Given the description of an element on the screen output the (x, y) to click on. 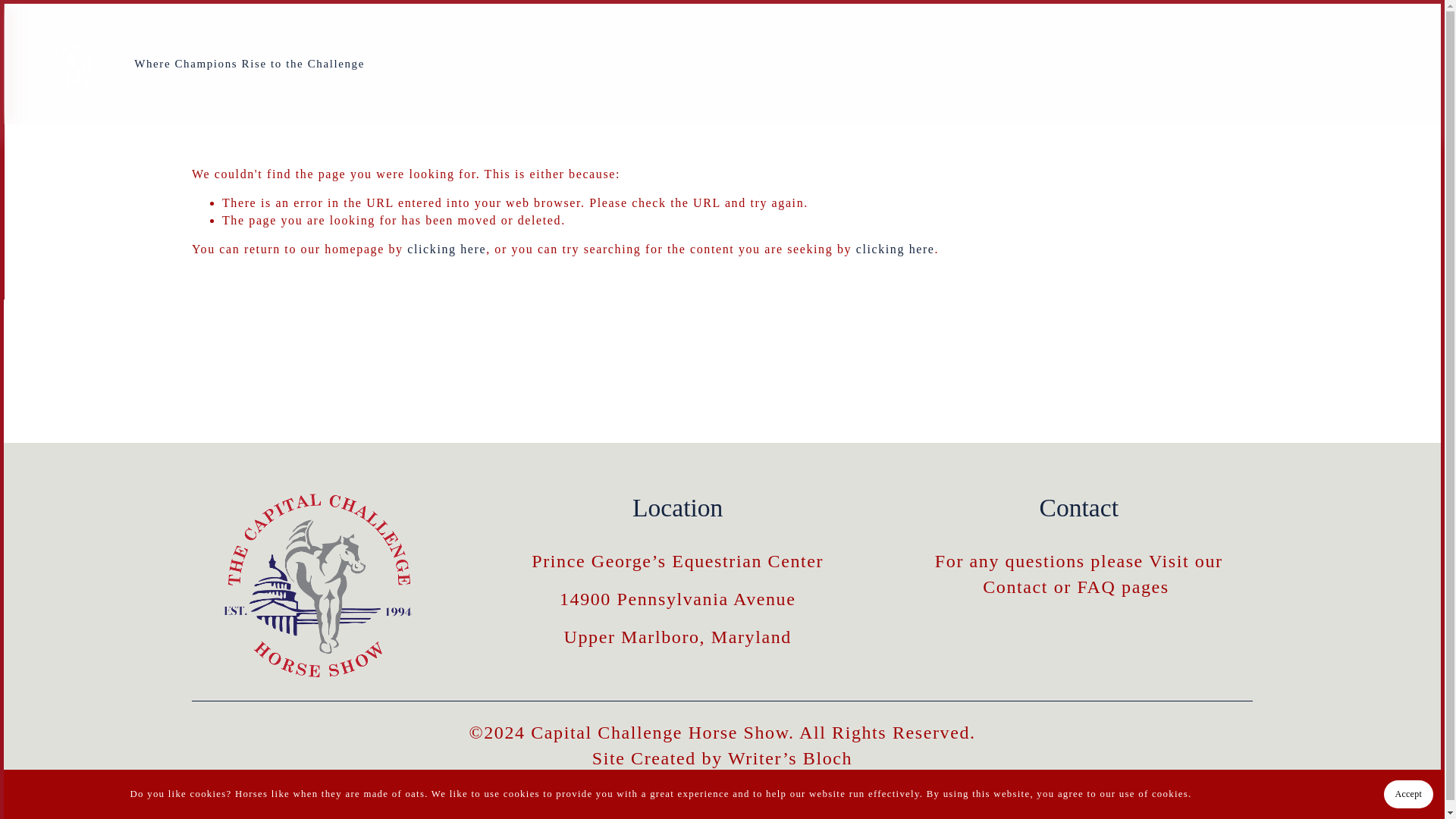
Open Menu (1393, 62)
clicking here (446, 248)
clicking here (895, 248)
Accept (1408, 782)
